Given the description of an element on the screen output the (x, y) to click on. 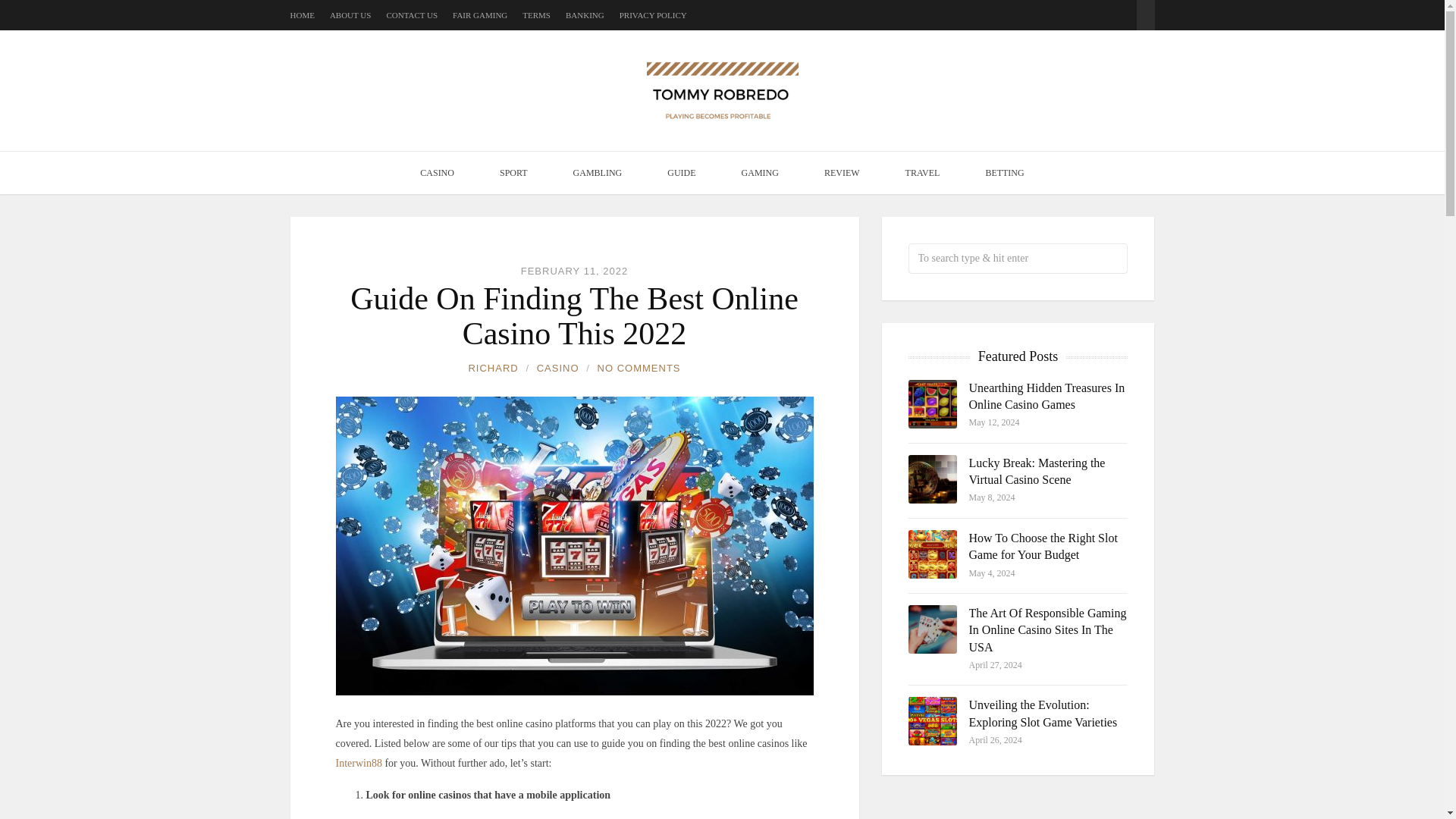
RICHARD (492, 368)
FAIR GAMING (479, 15)
BANKING (585, 15)
NO COMMENTS (638, 368)
BETTING (1004, 172)
SPORT (513, 172)
CONTACT US (411, 15)
Search (1144, 7)
Posts by Richard (492, 368)
REVIEW (842, 172)
ABOUT US (350, 15)
CASINO (437, 172)
Lucky Break: Mastering the Virtual Casino Scene (1037, 471)
CASINO (558, 368)
GAMBLING (597, 172)
